Given the description of an element on the screen output the (x, y) to click on. 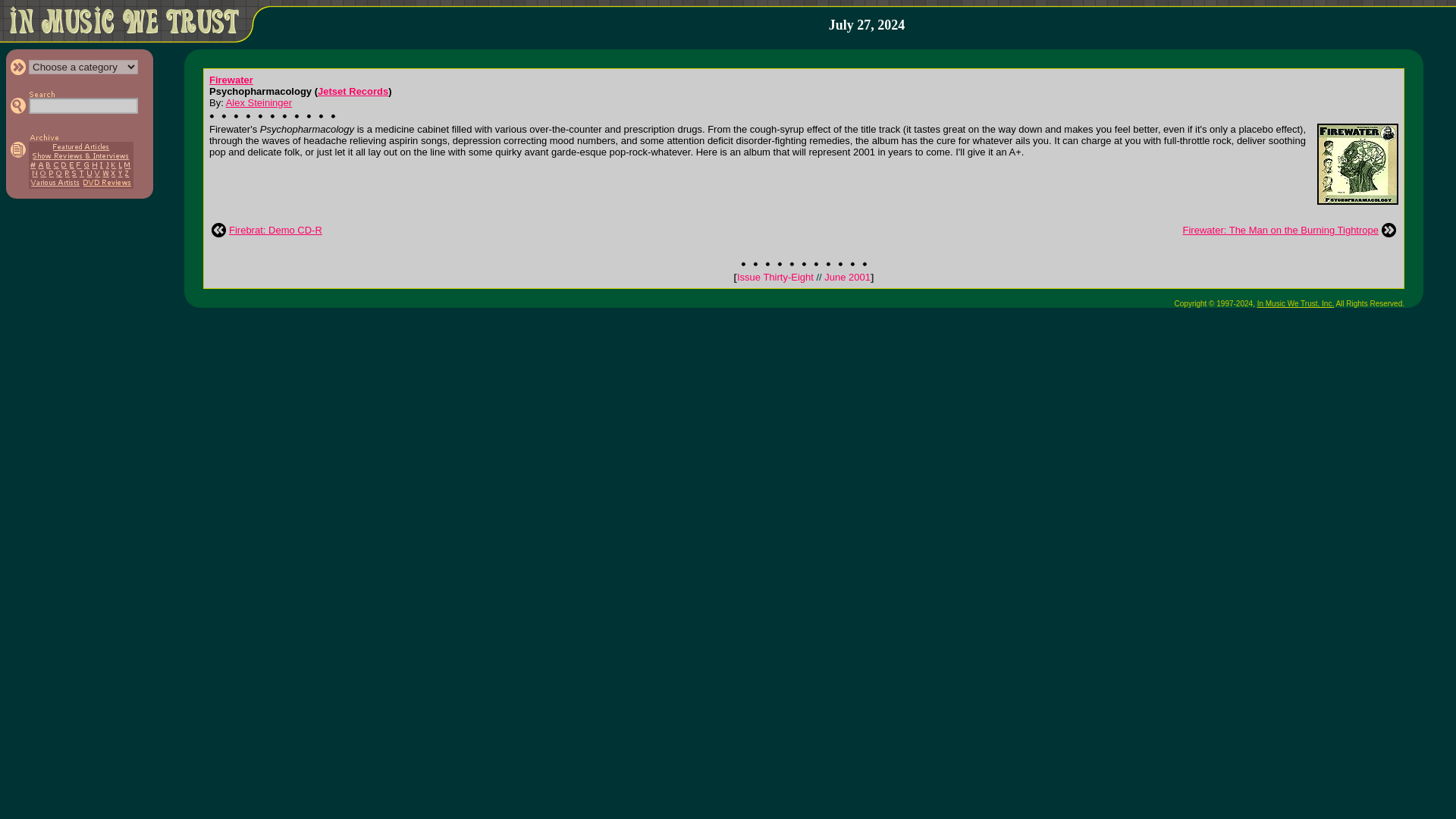
Firebrat: Demo CD-R (274, 229)
In Music We Trust, Inc. (1296, 303)
Jetset Records (352, 91)
Firewater (231, 79)
Firewater: The Man on the Burning Tightrope (1280, 229)
Alex Steininger (258, 102)
July 27, 2024 (866, 24)
